Given the description of an element on the screen output the (x, y) to click on. 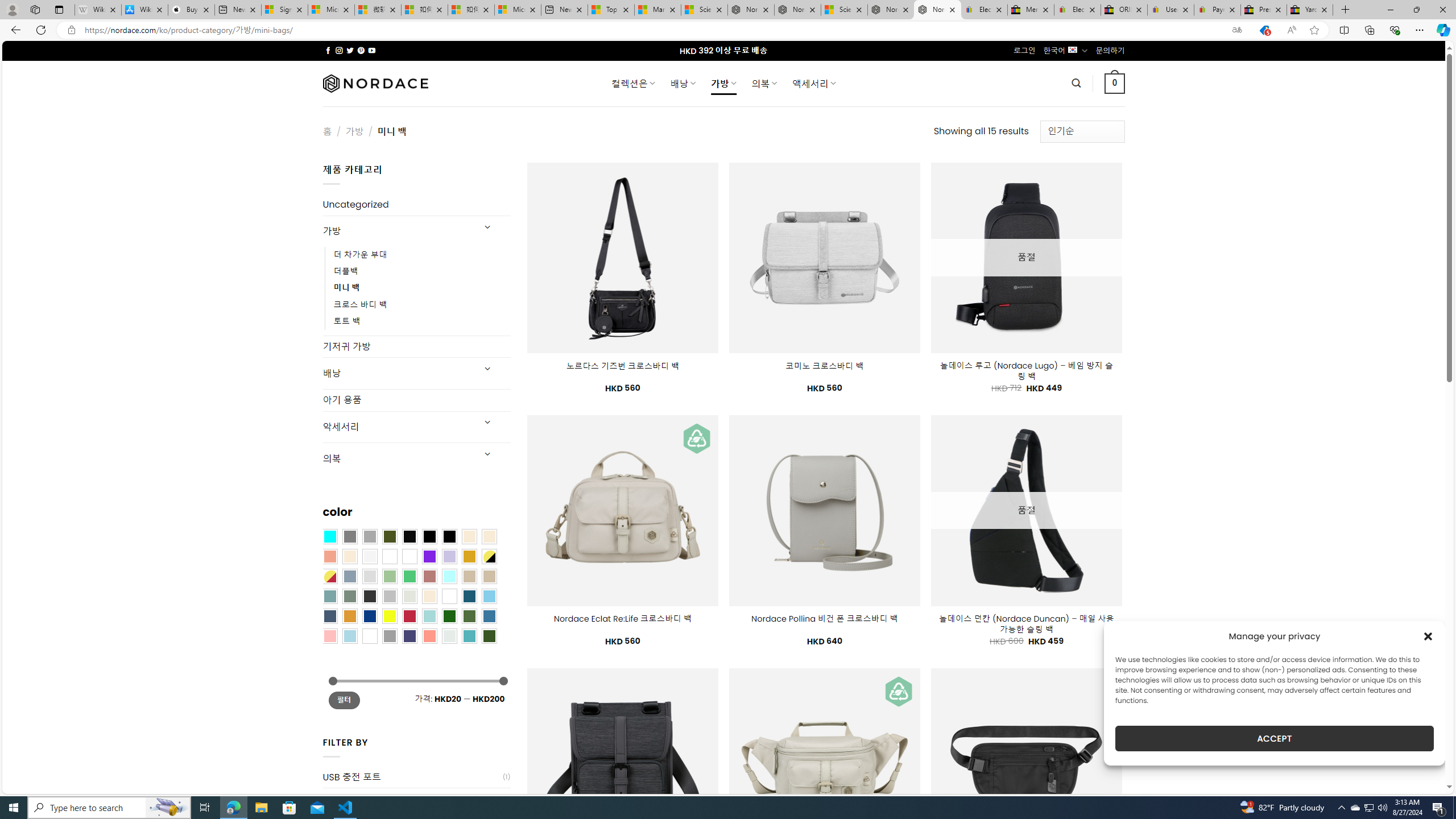
Purple (429, 555)
Show translate options (1236, 29)
